Given the description of an element on the screen output the (x, y) to click on. 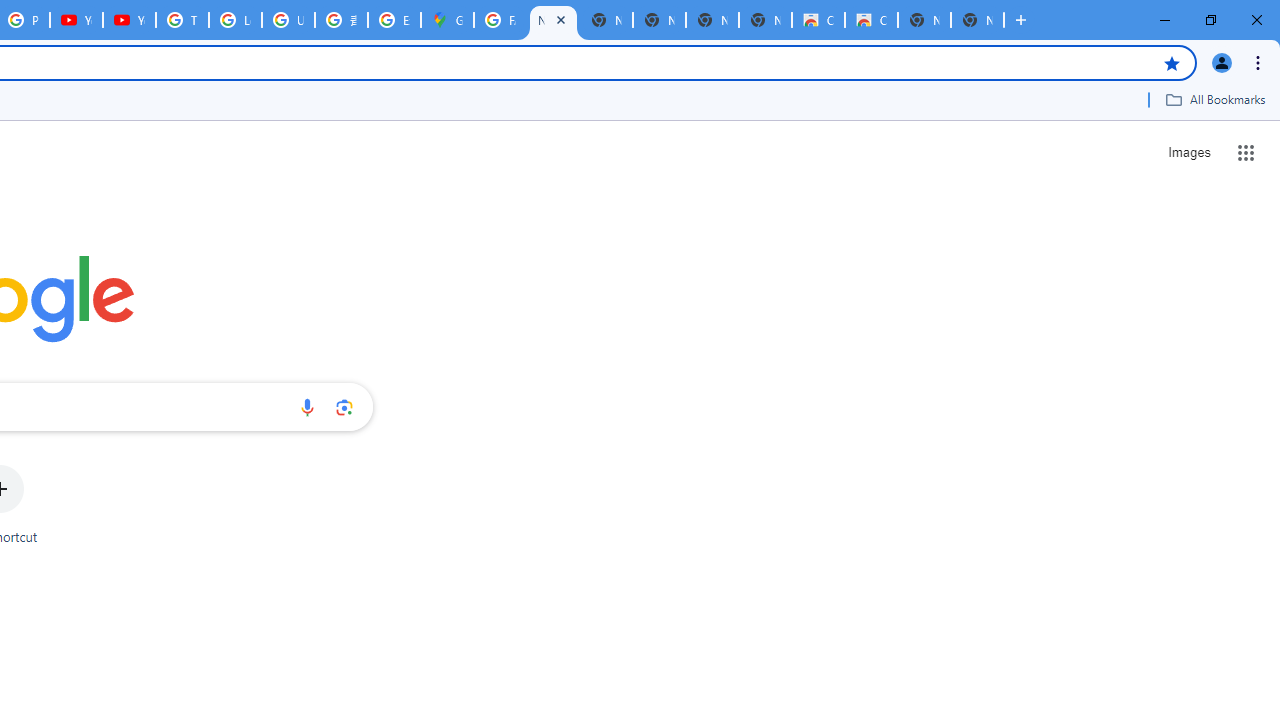
Classic Blue - Chrome Web Store (818, 20)
New Tab (977, 20)
Google Maps (447, 20)
YouTube (129, 20)
YouTube (76, 20)
Tips & tricks for Chrome - Google Chrome Help (182, 20)
Explore new street-level details - Google Maps Help (394, 20)
